Given the description of an element on the screen output the (x, y) to click on. 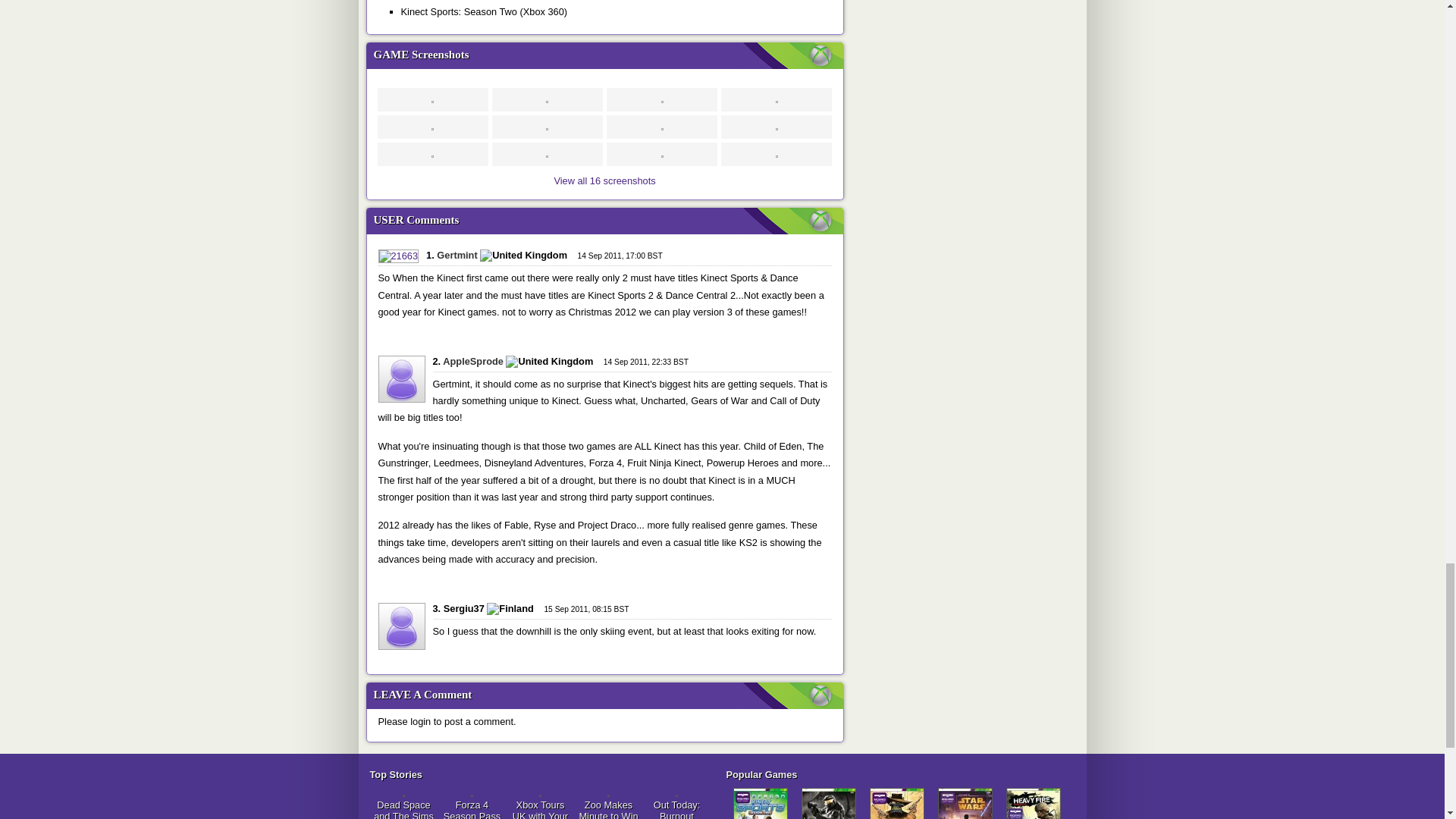
Game Screenshots (606, 55)
View all 16 screenshots (604, 180)
AppleSprode (472, 360)
Gertmint (456, 255)
